Given the description of an element on the screen output the (x, y) to click on. 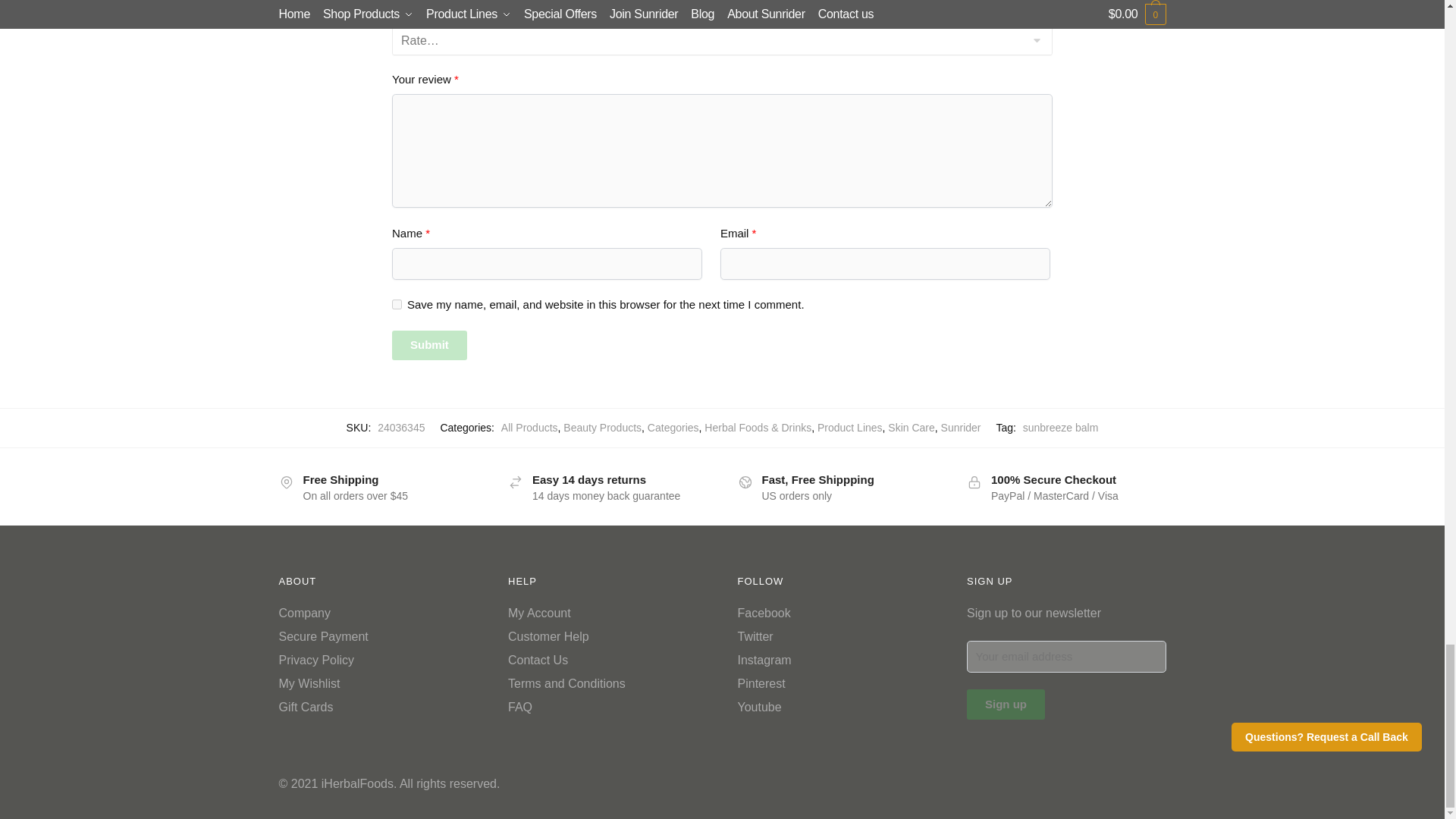
Submit (429, 345)
yes (396, 304)
Sign up (1005, 704)
